Given the description of an element on the screen output the (x, y) to click on. 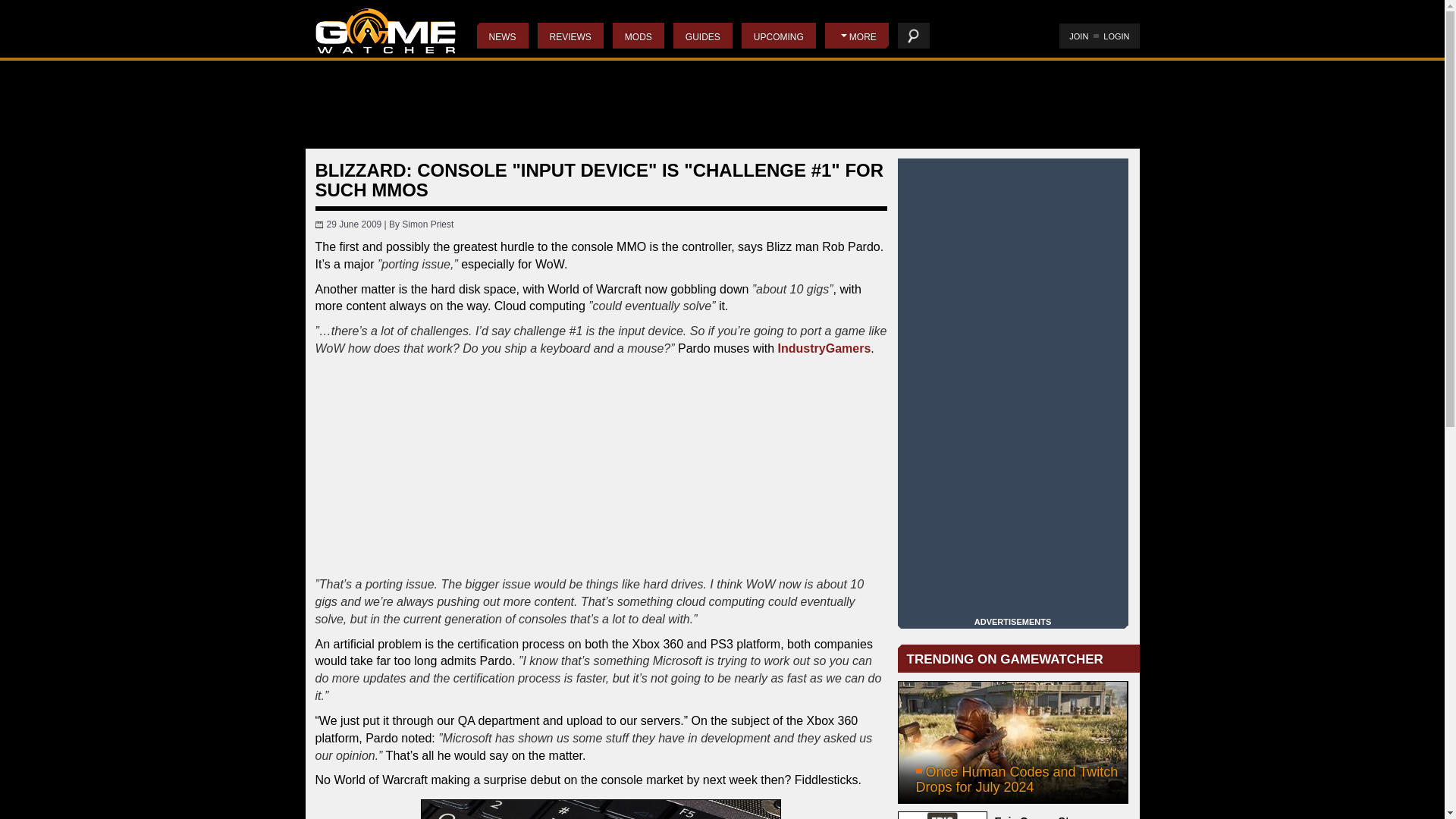
Simon Priest (426, 224)
LOGIN (1116, 36)
NEWS (501, 35)
MODS (637, 35)
GUIDES (702, 35)
REVIEWS (569, 35)
IndustryGamers (823, 348)
JOIN (1078, 36)
UPCOMING (778, 35)
Once Human Codes and Twitch Drops for July 2024 (1013, 741)
MORE (856, 35)
